Given the description of an element on the screen output the (x, y) to click on. 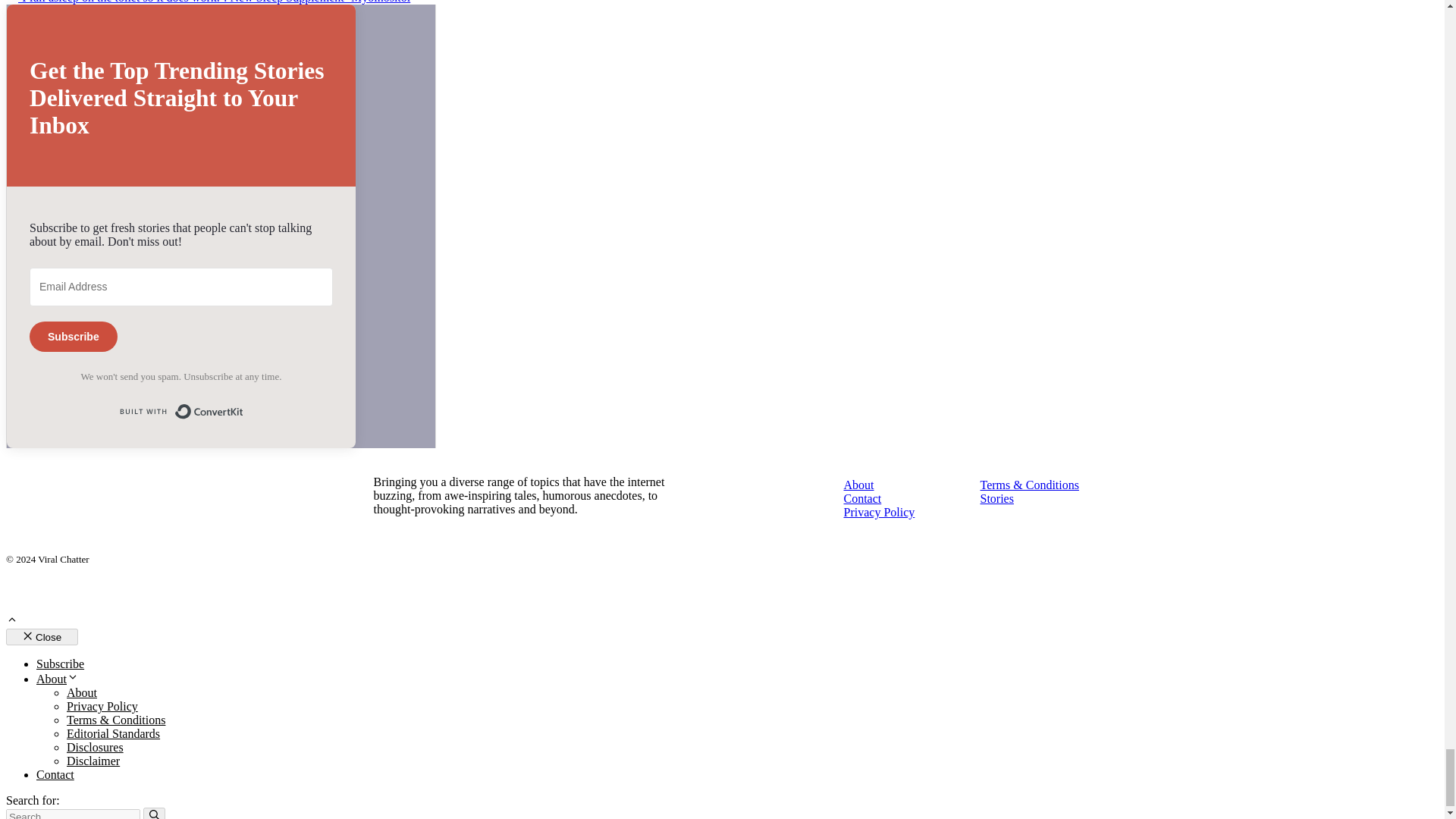
Scroll back to top (11, 621)
